Given the description of an element on the screen output the (x, y) to click on. 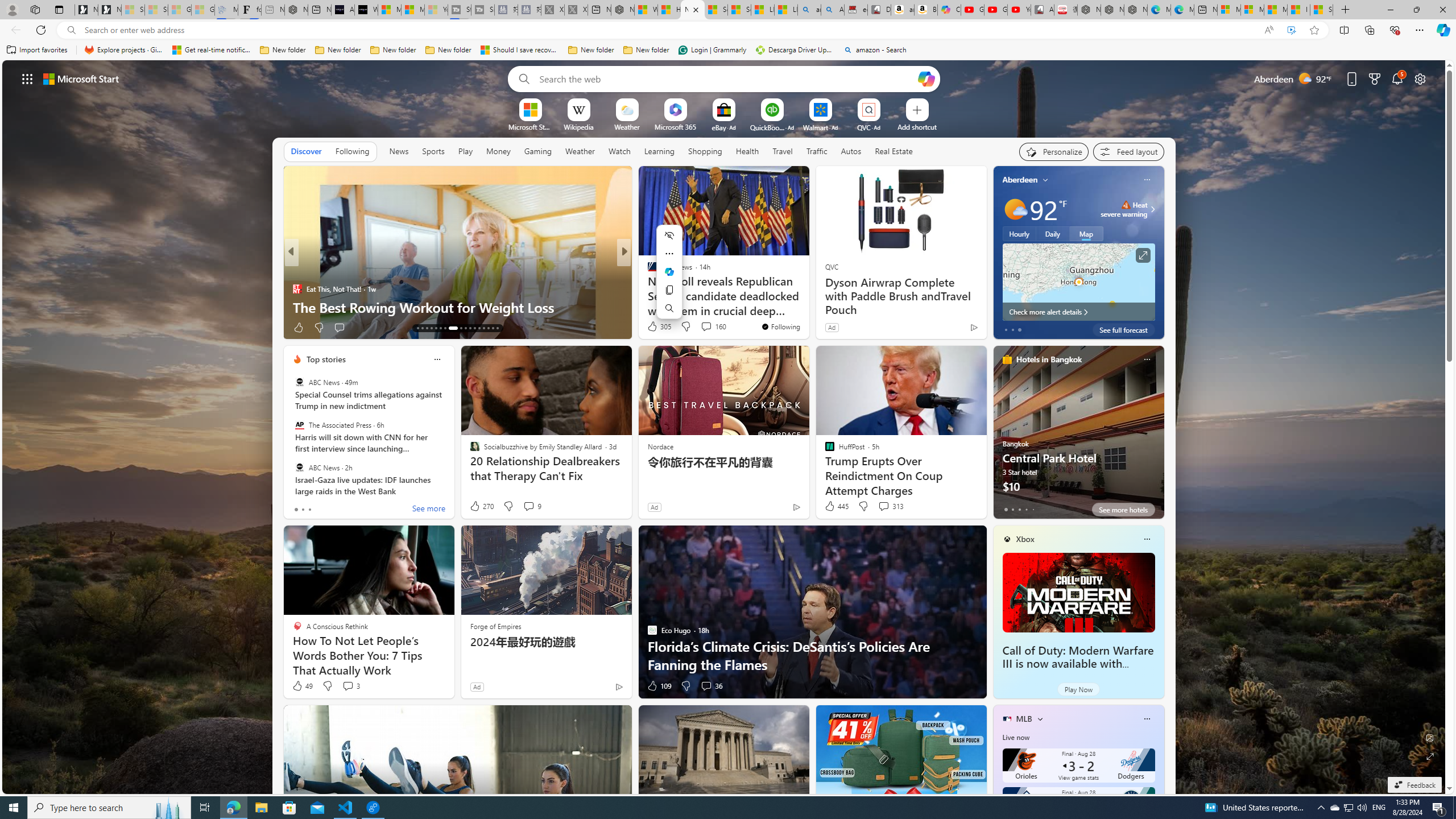
Page settings (1420, 78)
View comments 1k Comment (698, 327)
I Gained 20 Pounds of Muscle in 30 Days! | Watch (1298, 9)
AutomationID: tab-15 (426, 328)
386 Like (654, 327)
Lemon Impossible Pie - The Easiest Pie You'll Ever Make! (807, 298)
See more hotels (1123, 509)
View comments 160 Comment (712, 326)
AutomationID: tab-41 (488, 328)
AutomationID: tab-14 (422, 328)
Import favorites (36, 49)
More interests (1039, 718)
Enter your search term (726, 78)
